Given the description of an element on the screen output the (x, y) to click on. 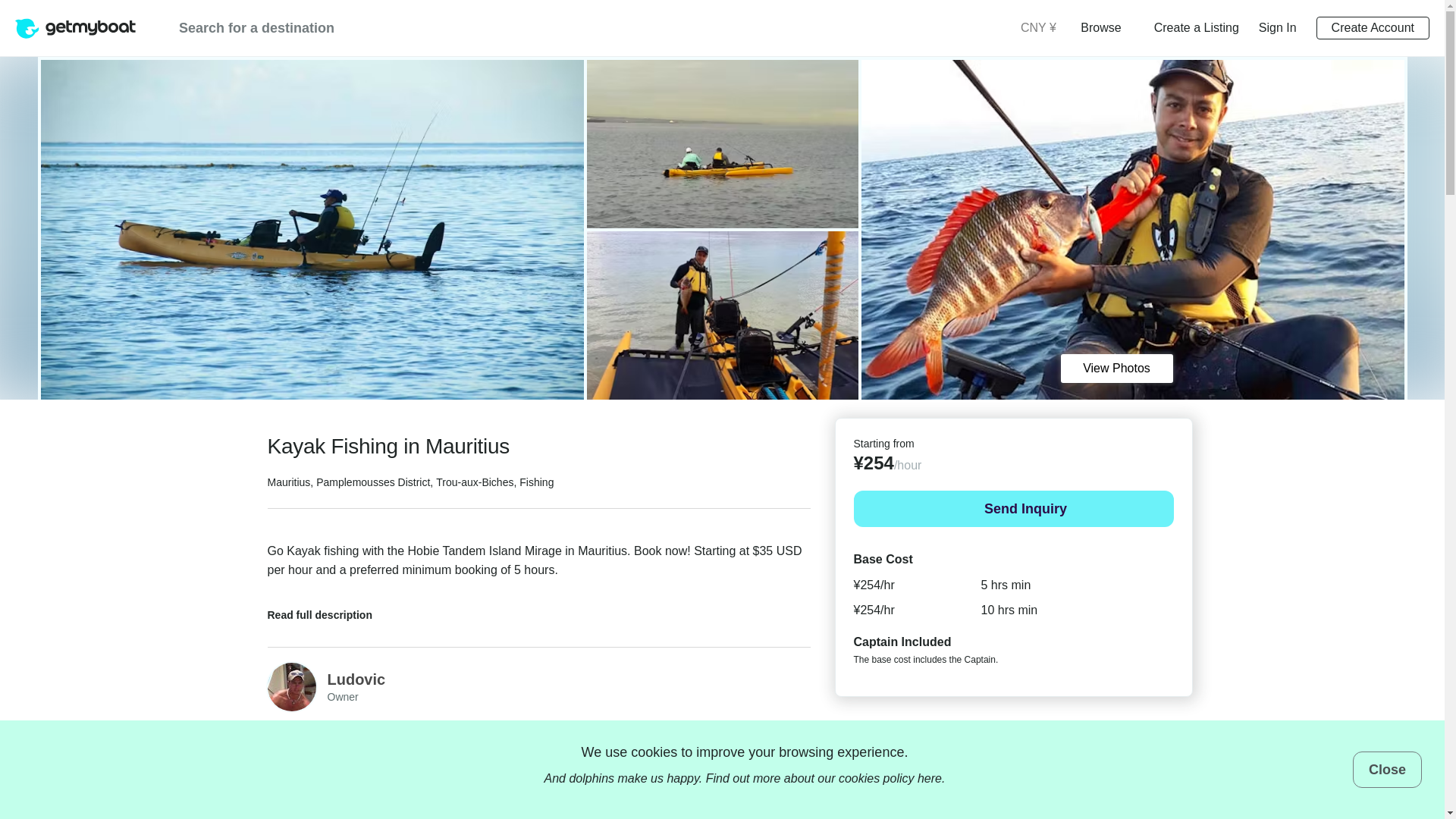
Read full description (329, 610)
Pamplemousses District (372, 481)
Close (1387, 769)
cookies policy here (890, 778)
View Photos (1115, 368)
Create Account (1372, 27)
Mauritius (288, 481)
Sign In (1278, 27)
Browse (1106, 26)
Create a Listing (1196, 27)
Trou-aux-Biches (474, 481)
